Given the description of an element on the screen output the (x, y) to click on. 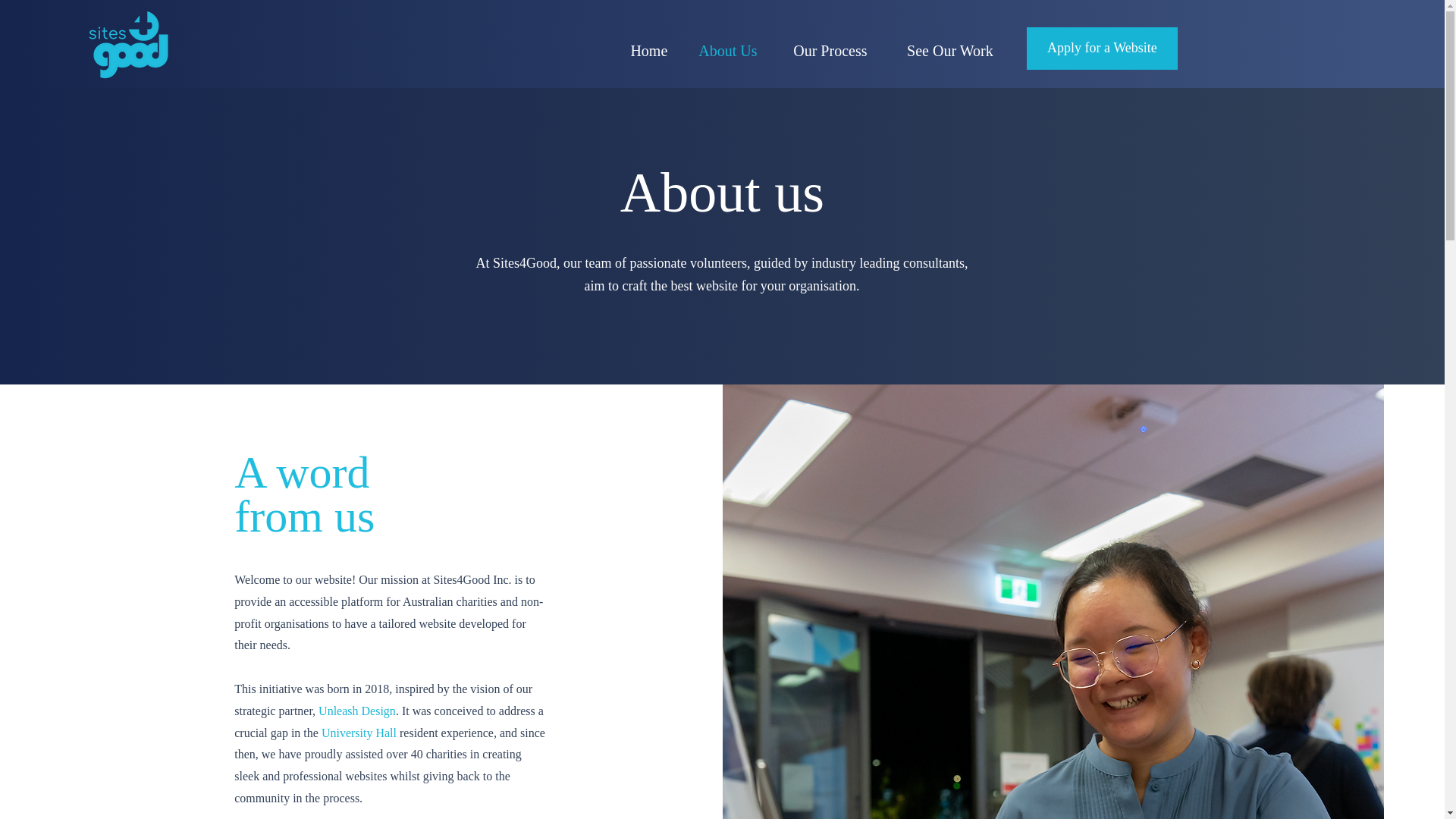
About Us (727, 50)
See Our Work (949, 50)
Unleash Design (357, 710)
Home (648, 50)
Apply for a Website (1101, 48)
Our Process (829, 50)
University Hall (358, 732)
